Given the description of an element on the screen output the (x, y) to click on. 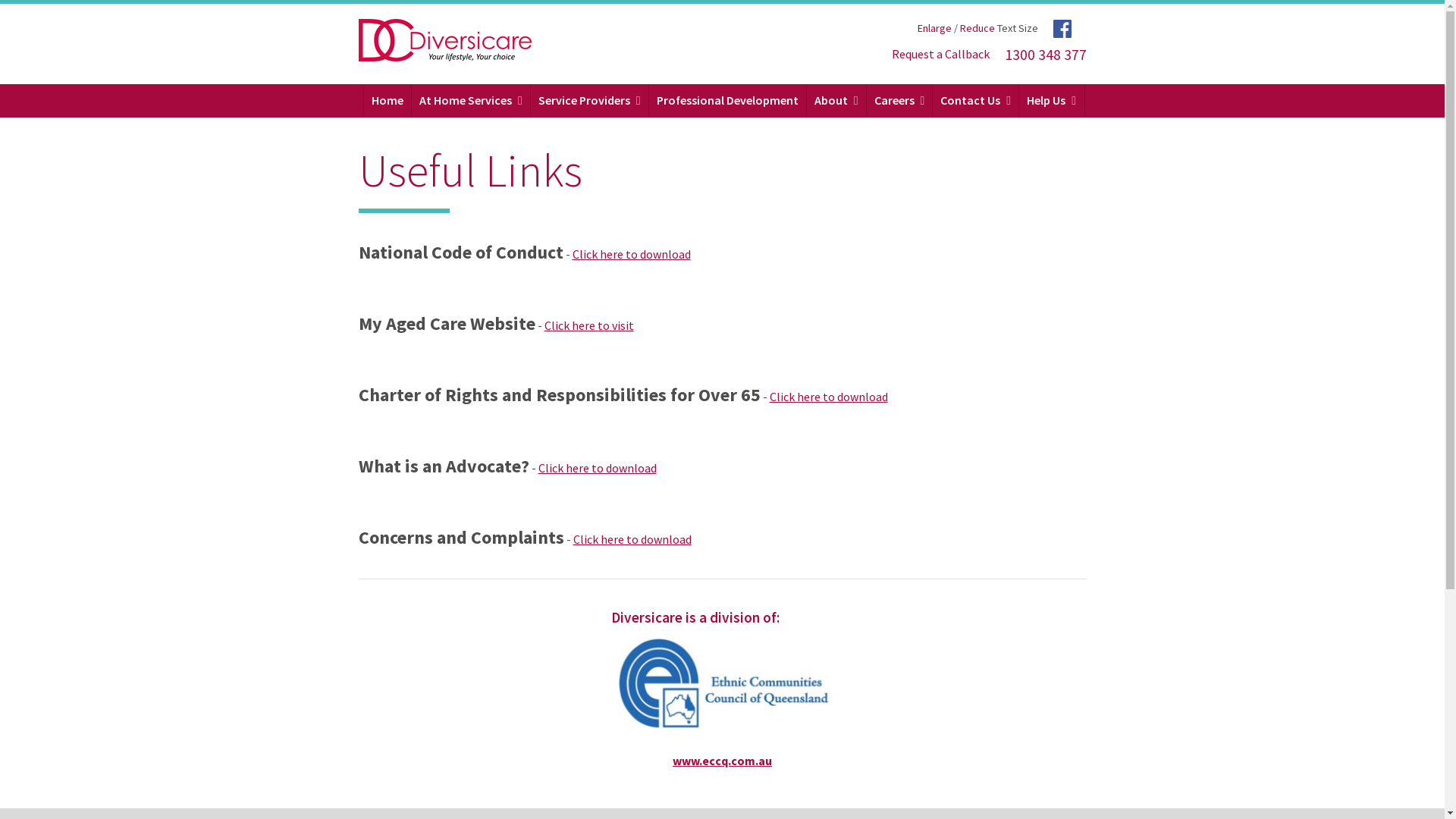
Click here to visit Element type: text (588, 324)
1300 348 377 Element type: text (1044, 54)
Click here to download Element type: text (827, 396)
Contact Us Element type: text (975, 100)
About Element type: text (836, 100)
Reduce Element type: text (977, 27)
Click here to download Element type: text (597, 467)
Click here to download Element type: text (632, 538)
Service Providers Element type: text (589, 100)
www.eccq.com.au Element type: text (721, 760)
Careers Element type: text (900, 100)
At Home Services Element type: text (471, 100)
Request a Callback Element type: text (938, 53)
Home Element type: text (387, 100)
Enlarge Element type: text (934, 27)
Click here to download Element type: text (630, 253)
Professional Development Element type: text (727, 100)
Help Us Element type: text (1051, 100)
